Given the description of an element on the screen output the (x, y) to click on. 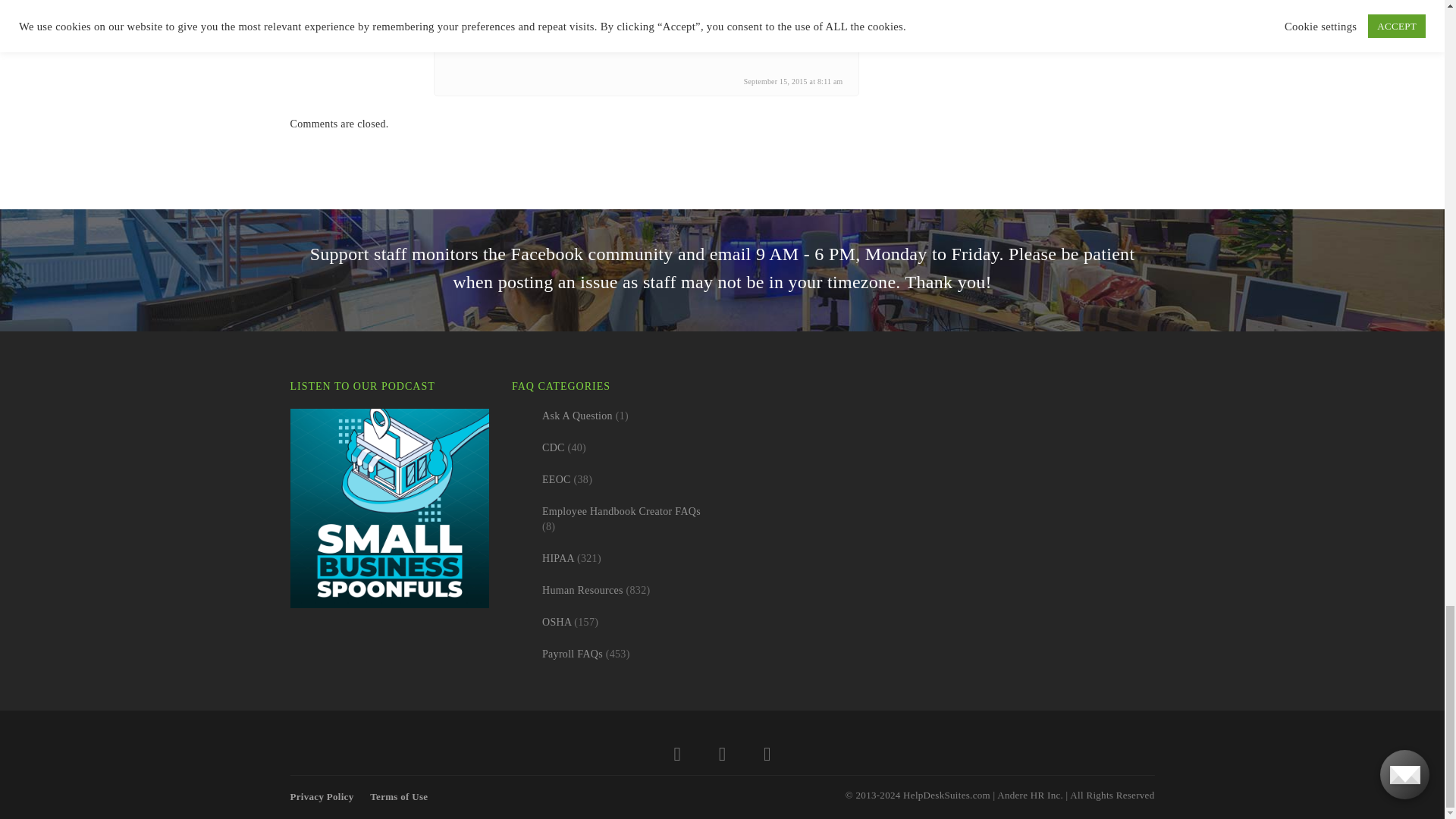
Facebook (721, 756)
Linkedin (766, 756)
Twitter (677, 756)
